Given the description of an element on the screen output the (x, y) to click on. 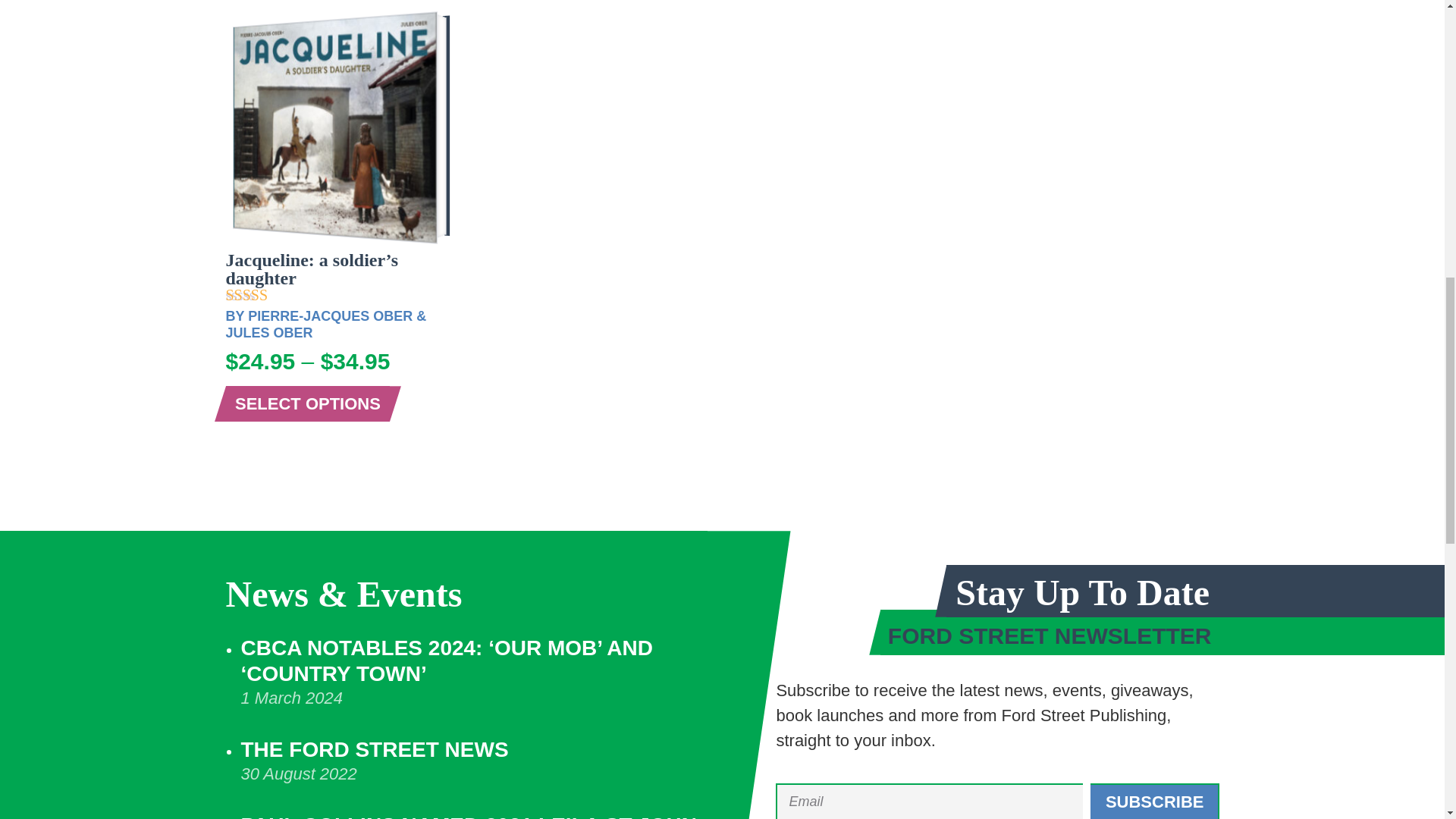
Subscribe (1155, 800)
Pierre-Jacques Ober (329, 315)
Jules Ober (269, 332)
